Given the description of an element on the screen output the (x, y) to click on. 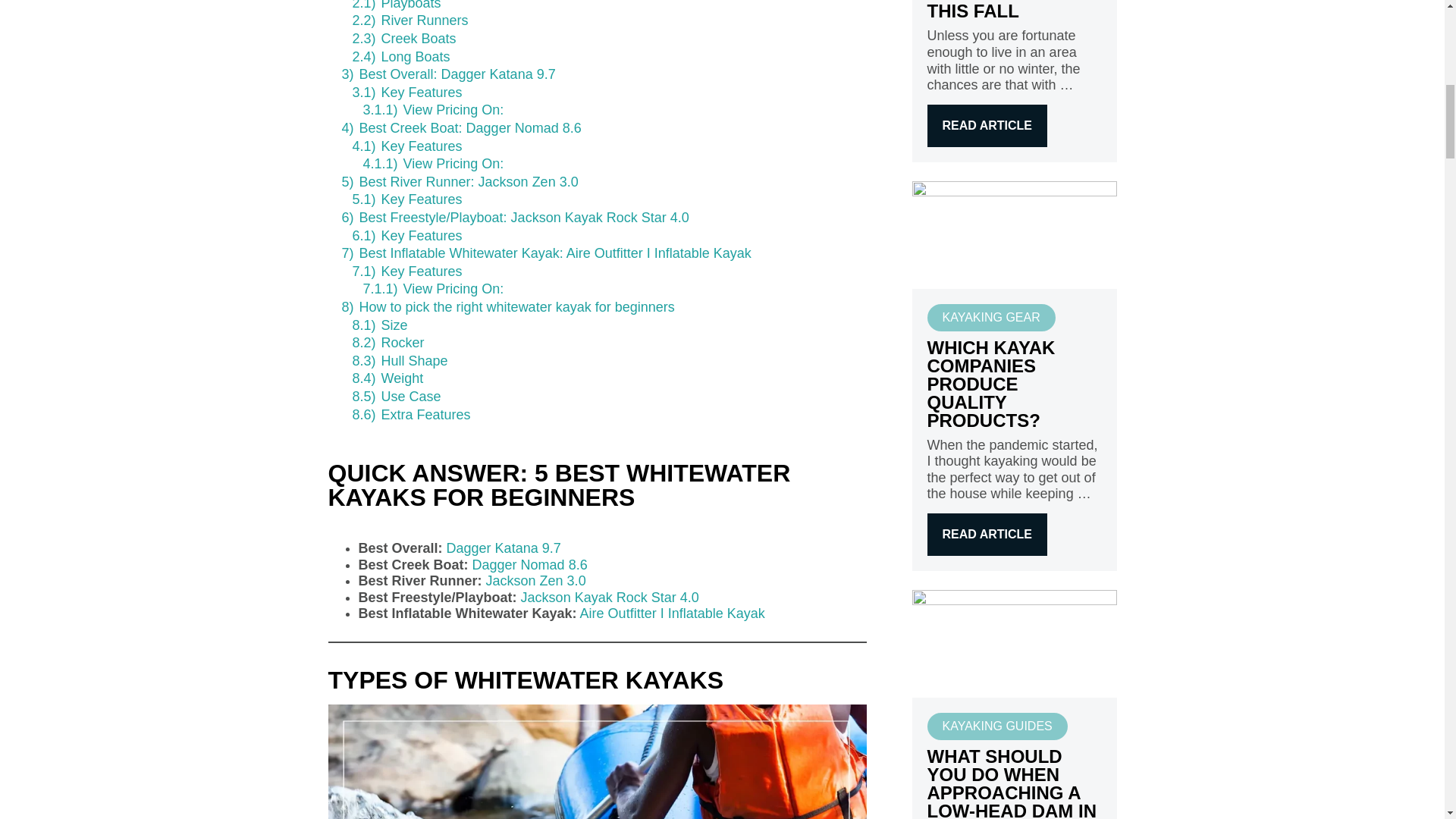
How To Winterize Your Kayak with Ease This Fall (986, 125)
Which Kayak Companies Produce Quality Products? (986, 534)
Which Kayak Companies Produce Quality Products? (1013, 233)
